Given the description of an element on the screen output the (x, y) to click on. 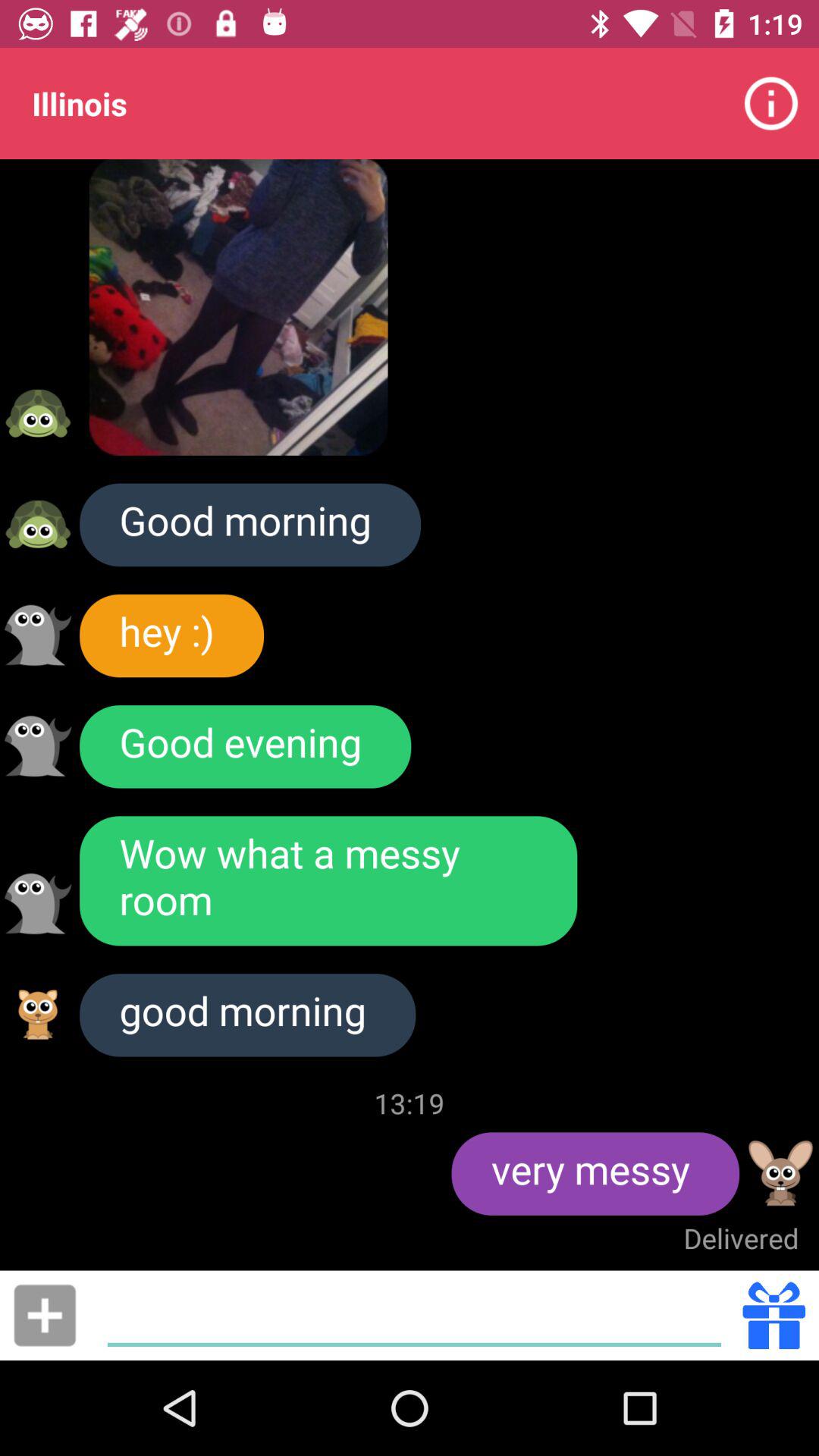
jump until good evening  item (245, 746)
